Given the description of an element on the screen output the (x, y) to click on. 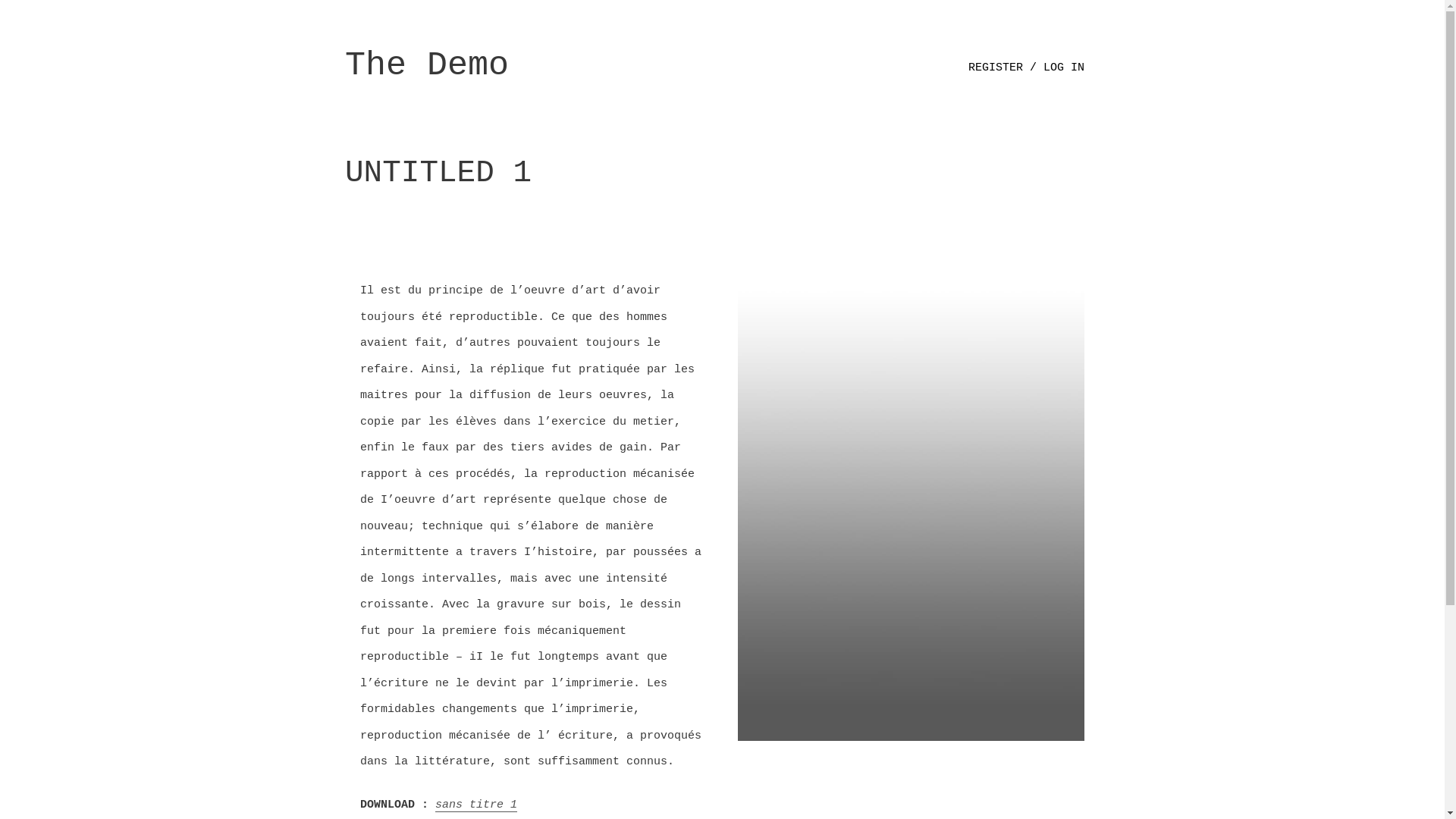
The Demo Element type: text (426, 65)
sans titre 1 Element type: text (476, 804)
REGISTER / LOG IN Element type: text (1026, 68)
